Given the description of an element on the screen output the (x, y) to click on. 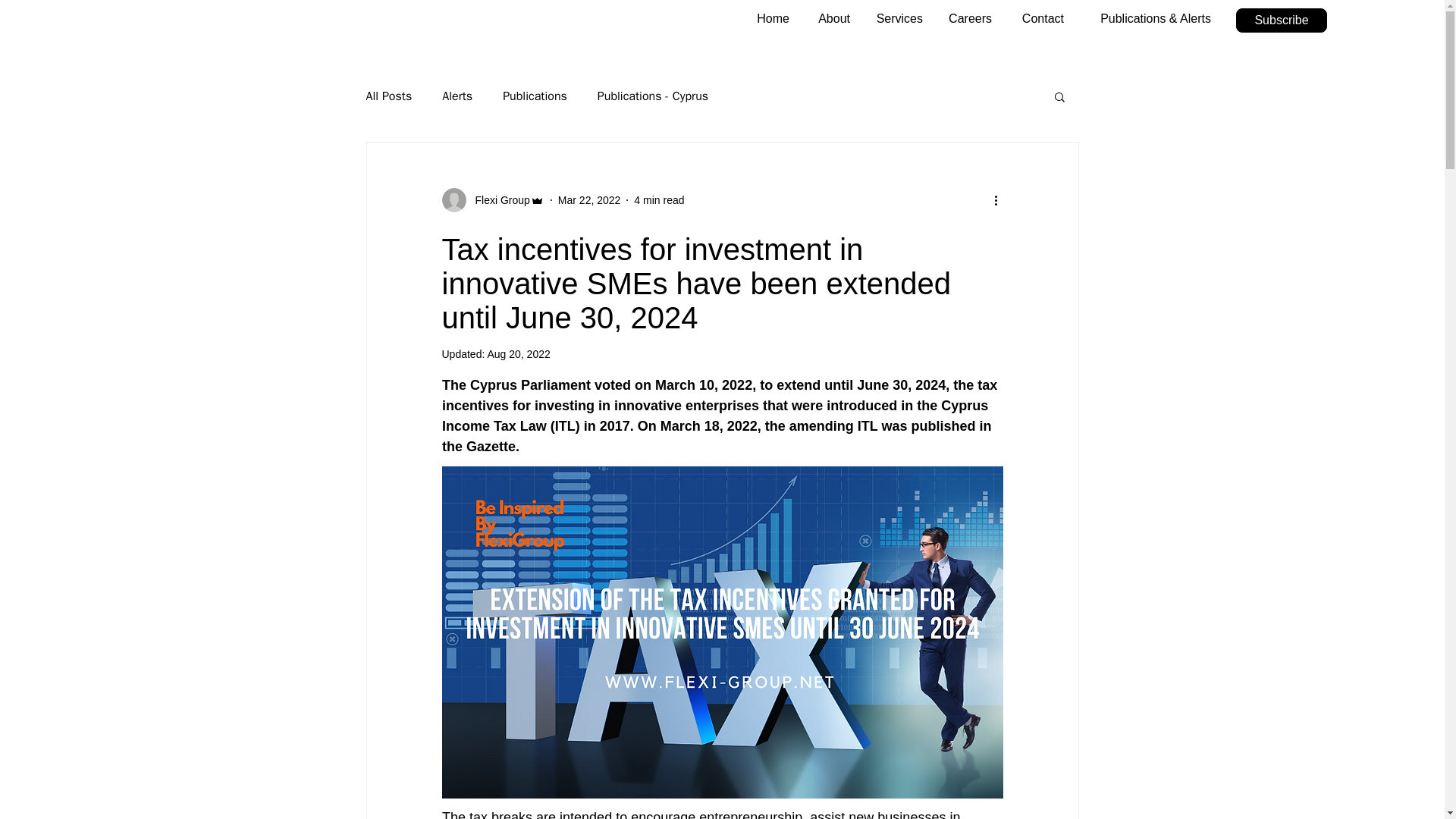
Alerts (456, 95)
4 min read (658, 200)
Contact (1039, 18)
All Posts (388, 95)
Careers (968, 18)
Flexi Group (497, 200)
Publications (534, 95)
About (830, 18)
Publications - Cyprus (651, 95)
Subscribe (1281, 20)
Mar 22, 2022 (589, 200)
Services (897, 18)
Aug 20, 2022 (518, 354)
Home (769, 18)
